Given the description of an element on the screen output the (x, y) to click on. 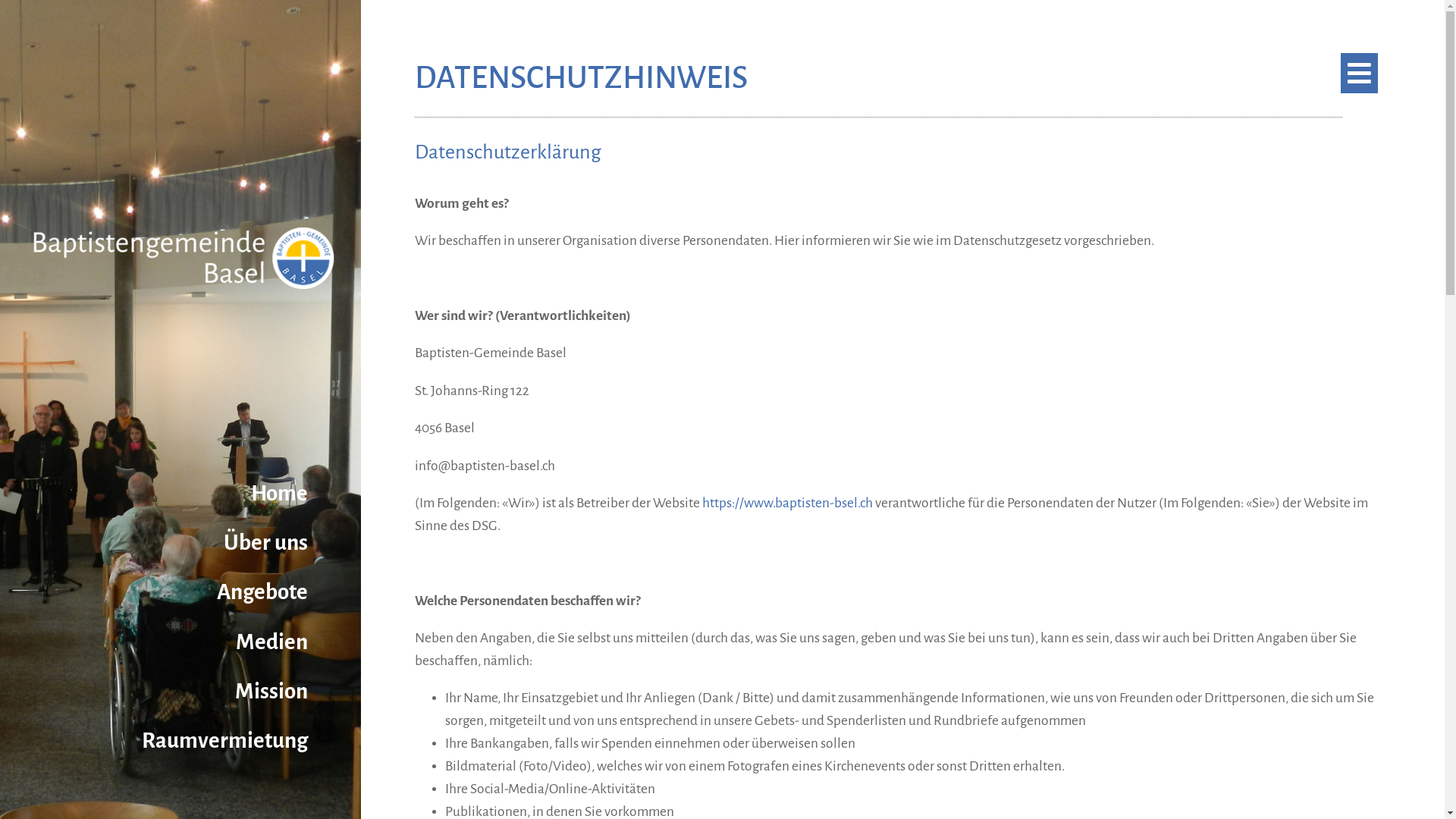
Medien Element type: text (291, 641)
https://www.baptisten-bsel.ch Element type: text (787, 502)
Home Element type: text (298, 492)
Angebote Element type: text (281, 592)
Mission Element type: text (290, 690)
Raumvermietung Element type: text (244, 740)
